Given the description of an element on the screen output the (x, y) to click on. 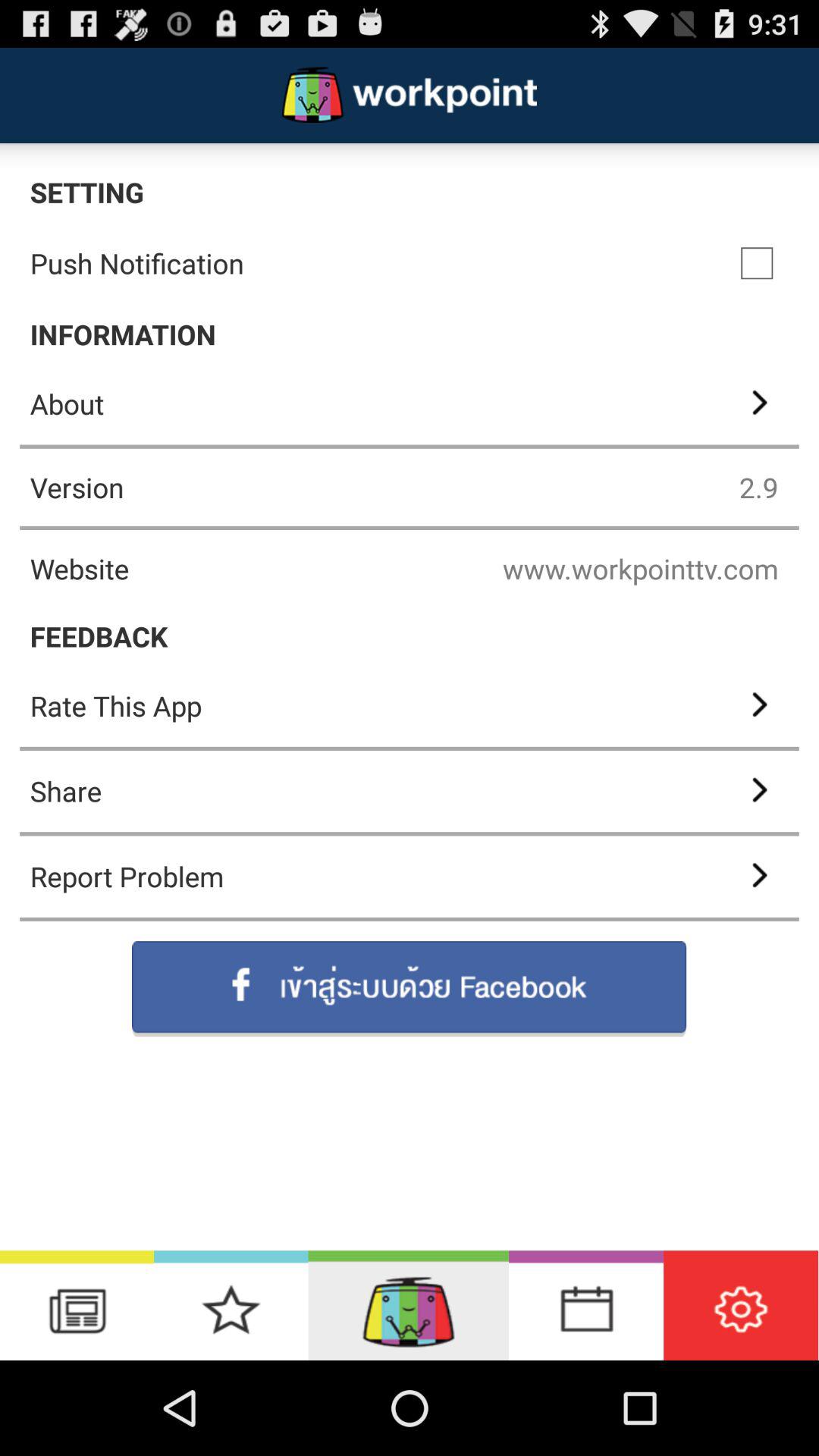
open secound tab in the bottom (231, 1305)
